Given the description of an element on the screen output the (x, y) to click on. 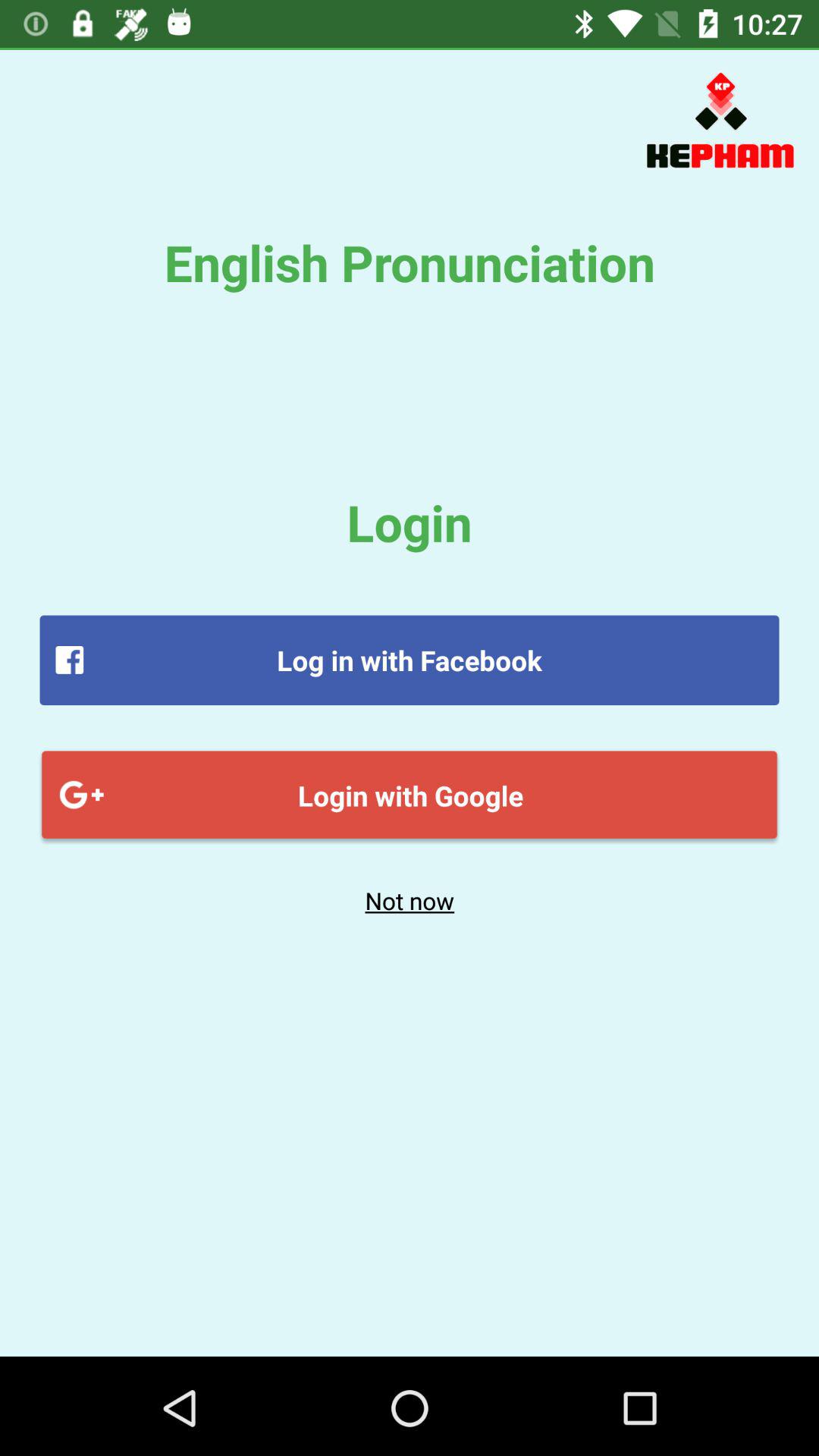
click the login with google (409, 794)
